Given the description of an element on the screen output the (x, y) to click on. 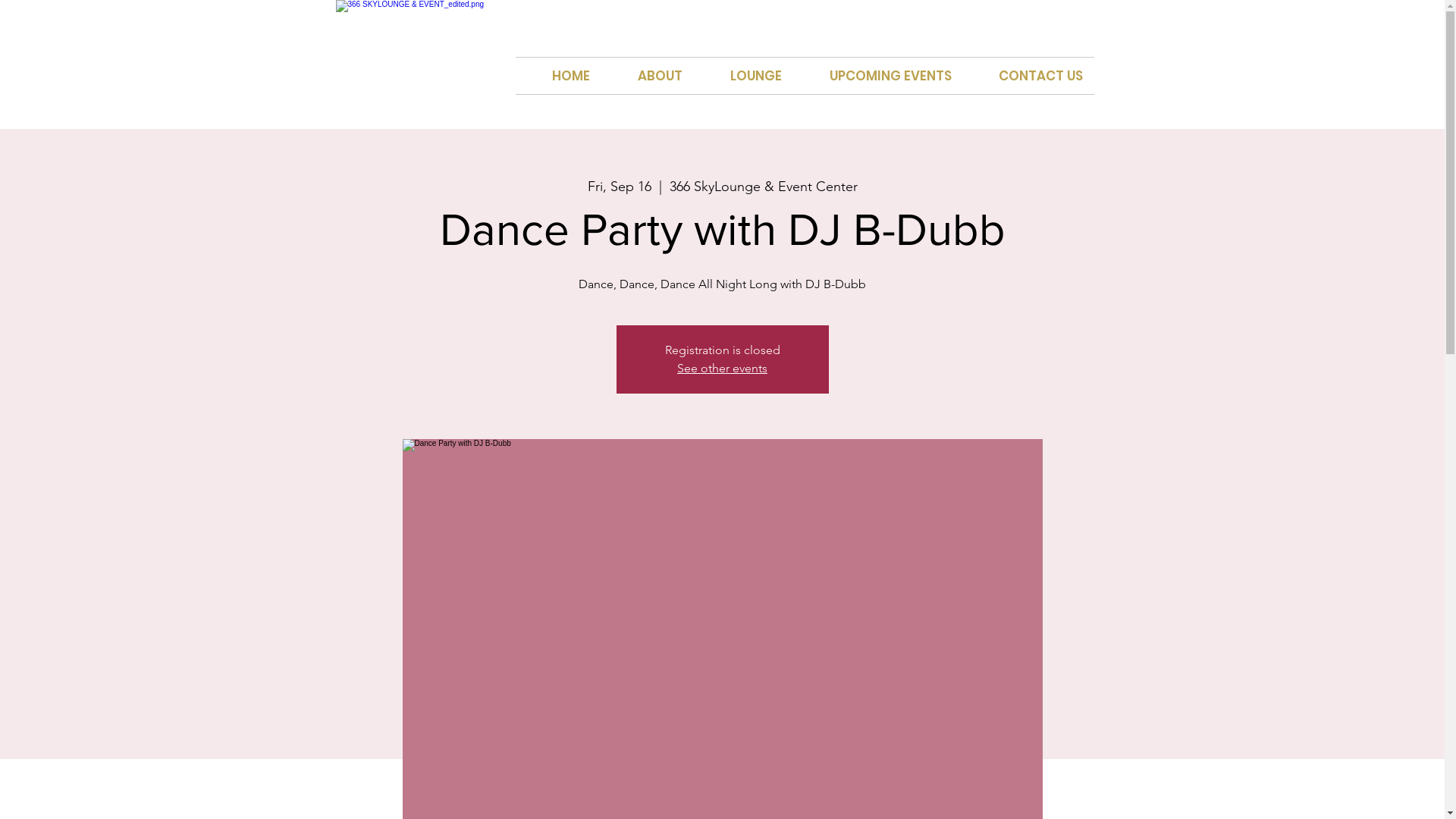
ABOUT Element type: text (646, 75)
UPCOMING EVENTS Element type: text (878, 75)
See other events Element type: text (722, 367)
LOUNGE Element type: text (742, 75)
366 SKYLOUNGE & EVENT.png Element type: hover (429, 50)
HOME Element type: text (558, 75)
CONTACT US Element type: text (1028, 75)
